Given the description of an element on the screen output the (x, y) to click on. 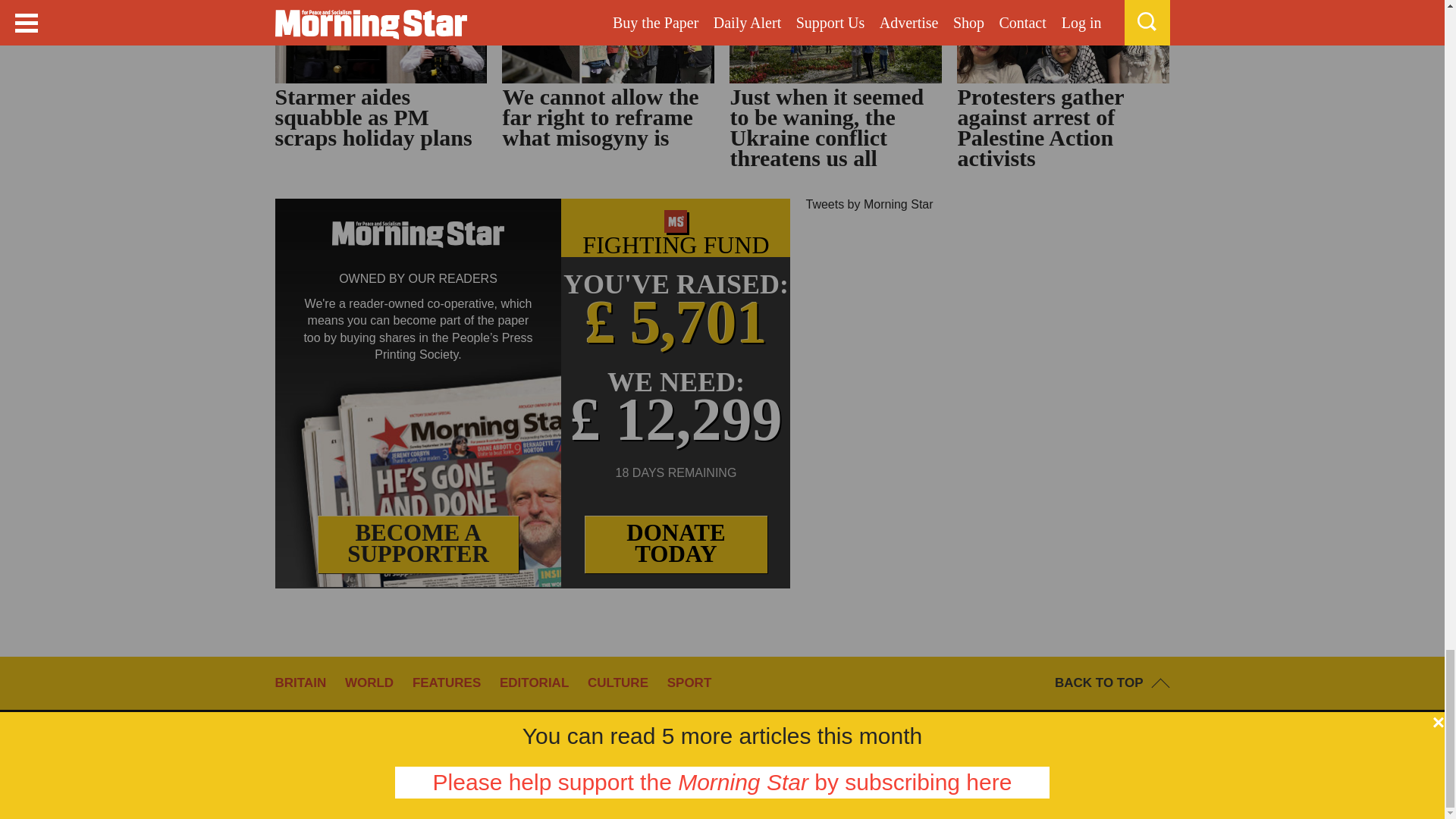
World (377, 682)
Culture (625, 682)
Britain (307, 682)
Sport (696, 682)
Editorial (541, 682)
Features (454, 682)
